Given the description of an element on the screen output the (x, y) to click on. 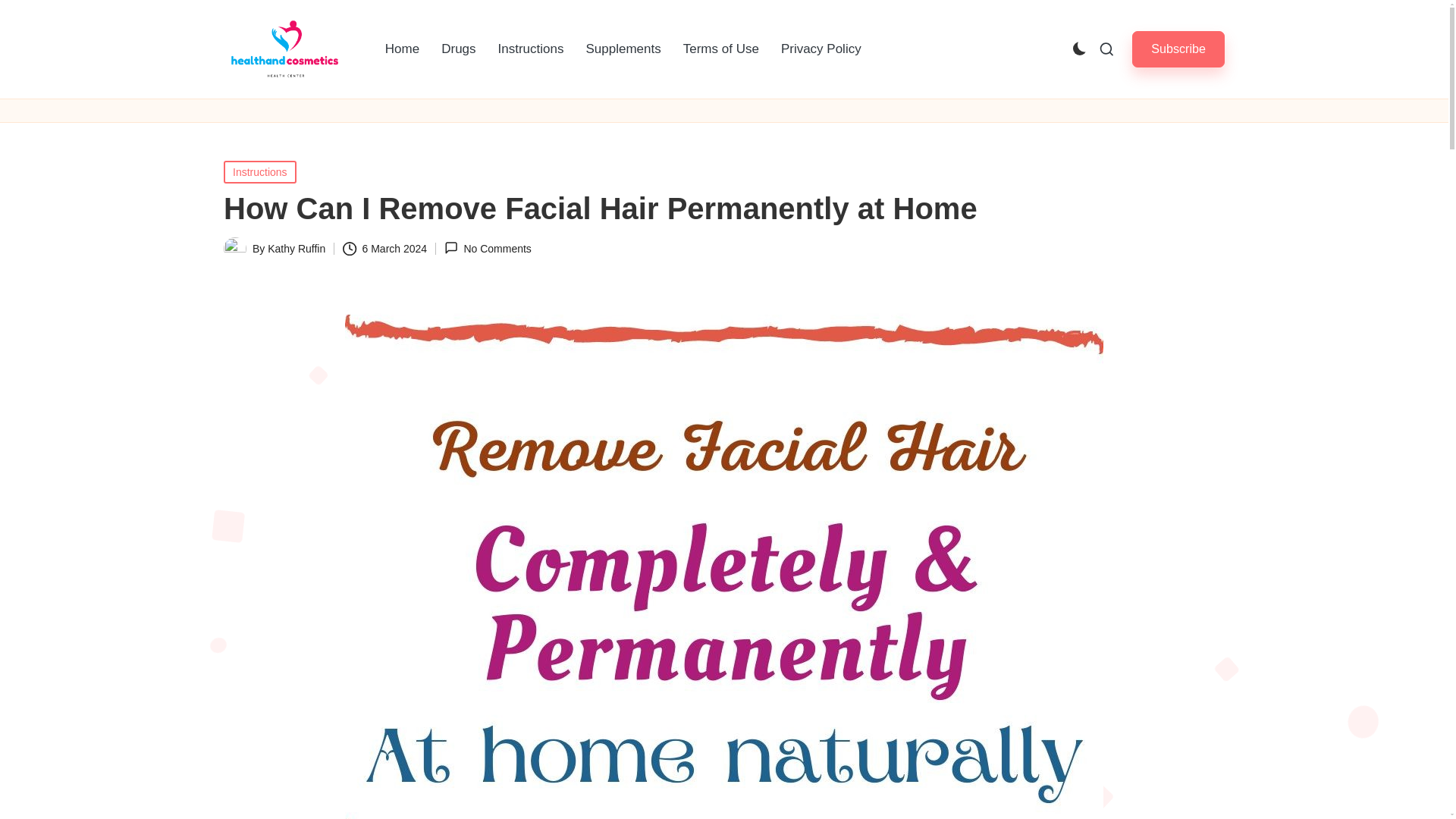
No Comments (487, 247)
Terms of Use (721, 49)
Supplements (623, 49)
Instructions (531, 49)
Drugs (458, 49)
View all posts by Kathy Ruffin (295, 248)
Instructions (260, 171)
Privacy Policy (821, 49)
Home (401, 49)
Subscribe (1178, 48)
Kathy Ruffin (295, 248)
